Given the description of an element on the screen output the (x, y) to click on. 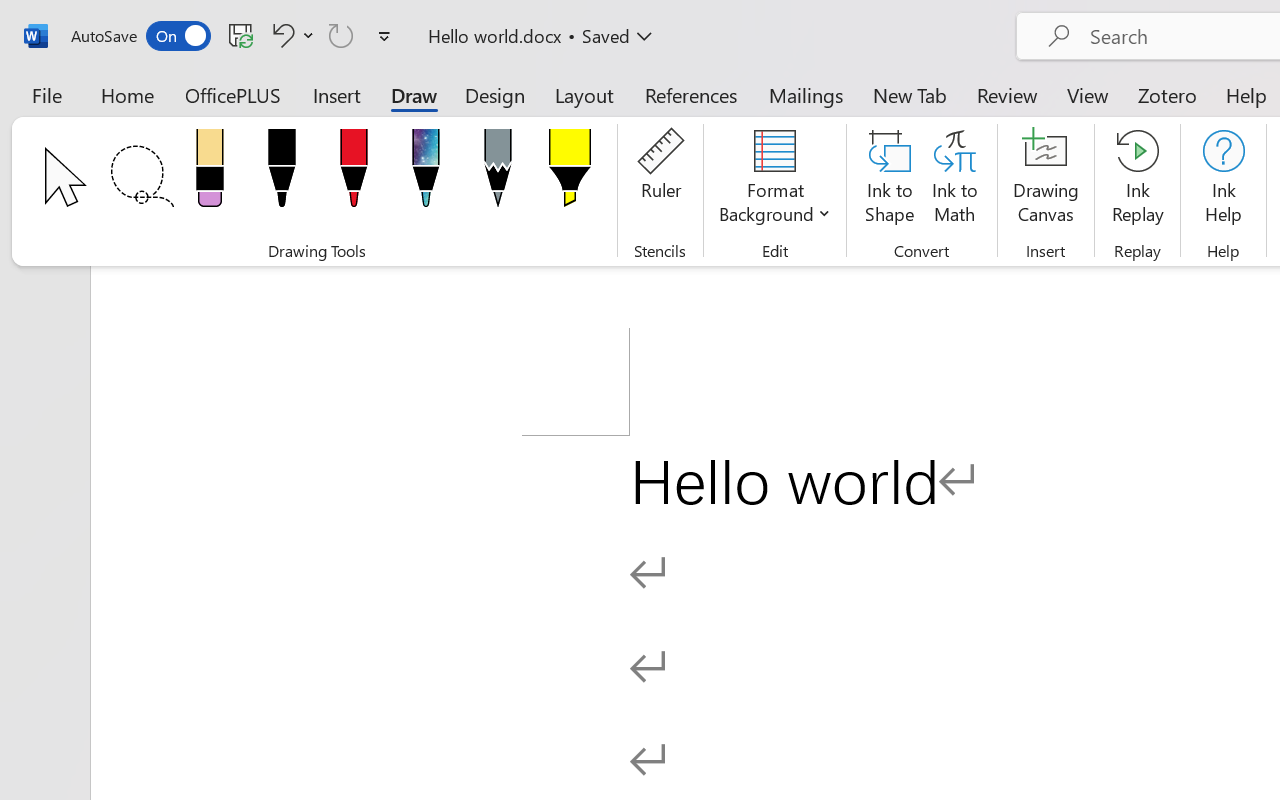
Ink to Math (954, 179)
OfficePLUS (233, 94)
Pen: Galaxy, 1 mm (426, 173)
Draw (413, 94)
Ink Help (1223, 179)
Home (127, 94)
Ruler (660, 179)
Customize Quick Access Toolbar (384, 35)
Pen: Red, 0.5 mm (353, 173)
Undo Click and Type Formatting (280, 35)
References (690, 94)
